Given the description of an element on the screen output the (x, y) to click on. 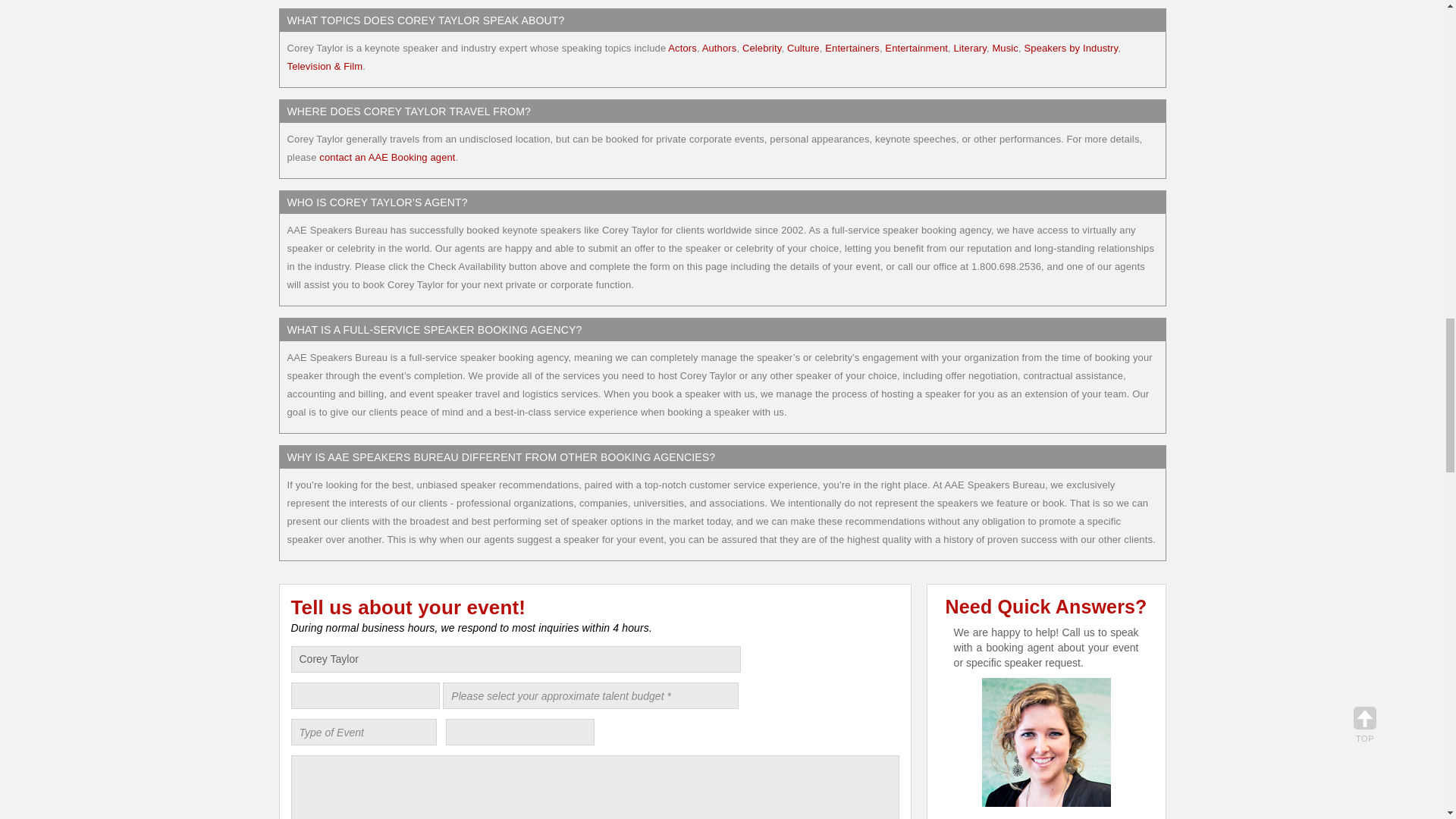
Corey Taylor (516, 659)
